Given the description of an element on the screen output the (x, y) to click on. 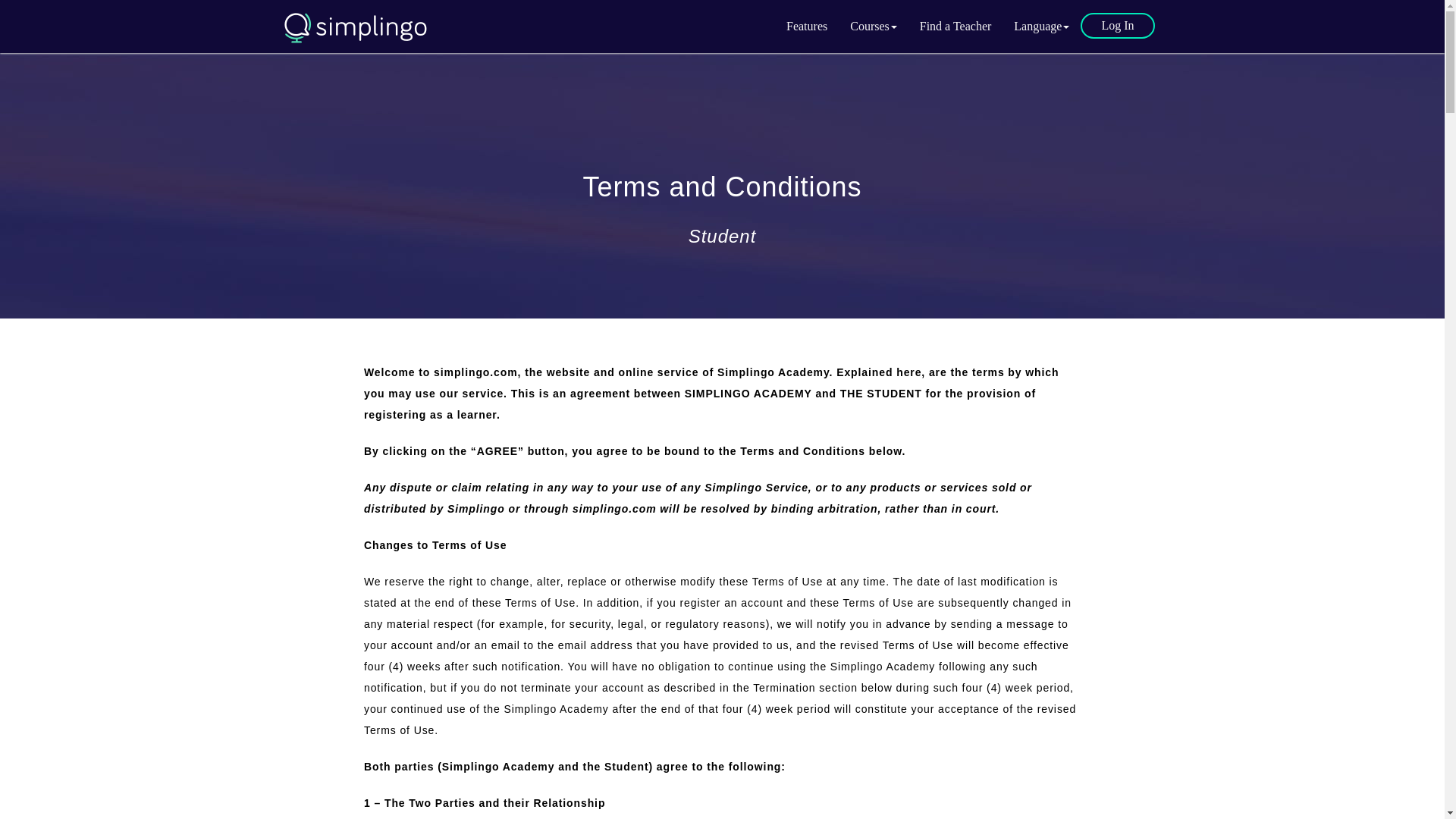
Courses (873, 26)
Log In (1117, 25)
Features (806, 26)
Find a Teacher (955, 26)
Language (1041, 26)
